Given the description of an element on the screen output the (x, y) to click on. 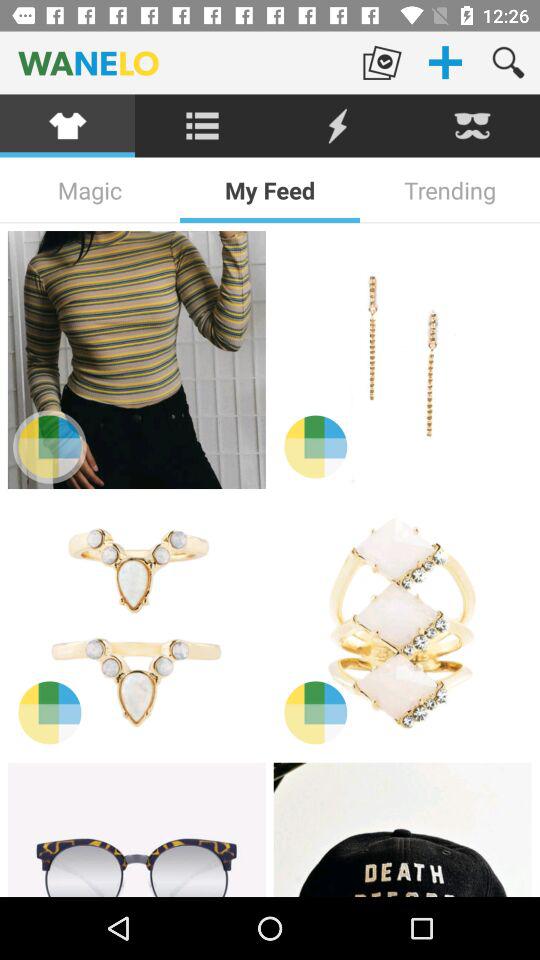
searchine icone (202, 125)
